Given the description of an element on the screen output the (x, y) to click on. 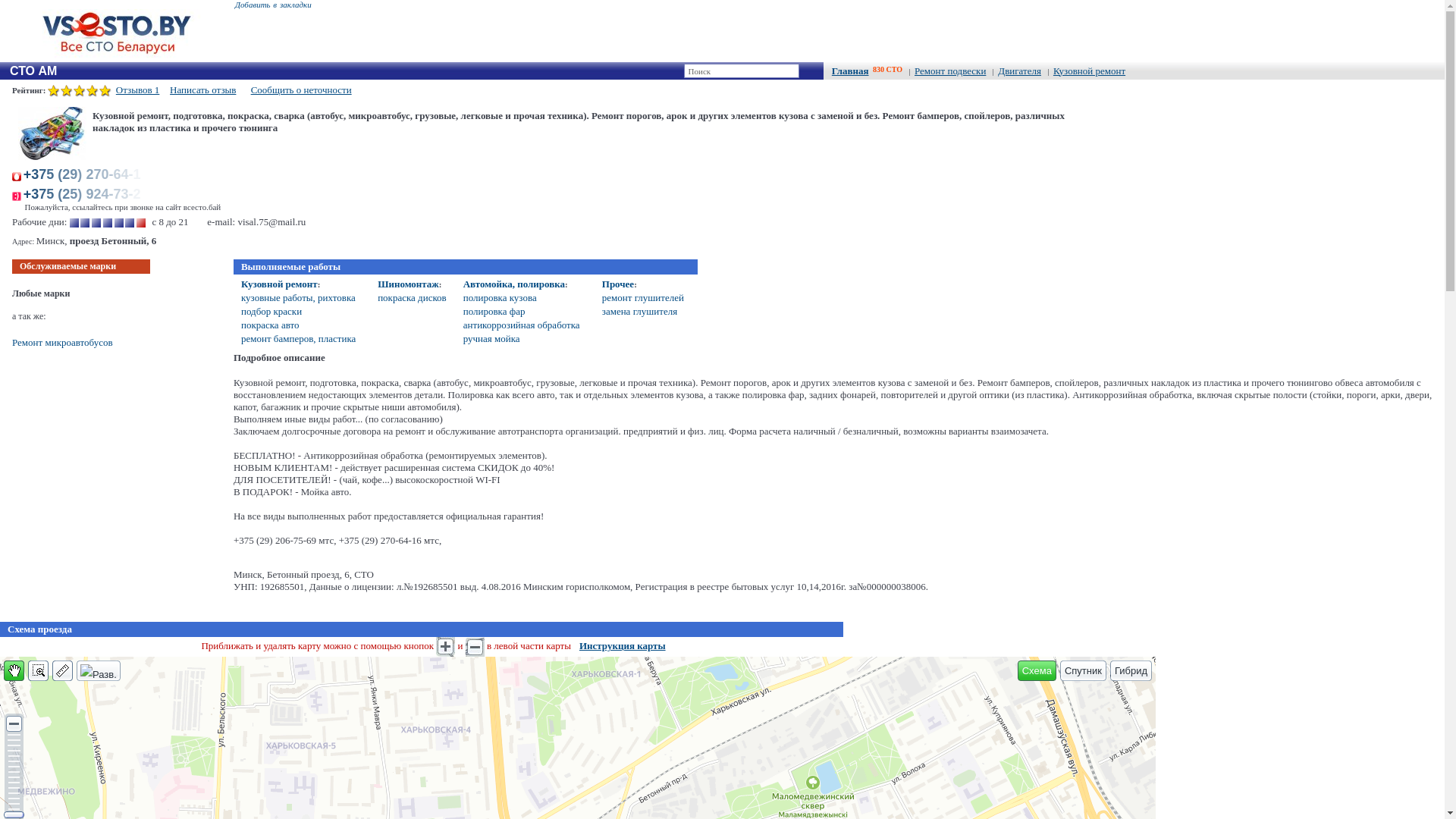
+375 (29) 270-64-1 Element type: text (85, 174)
+375 (25) 924-73-2 Element type: text (85, 193)
